Given the description of an element on the screen output the (x, y) to click on. 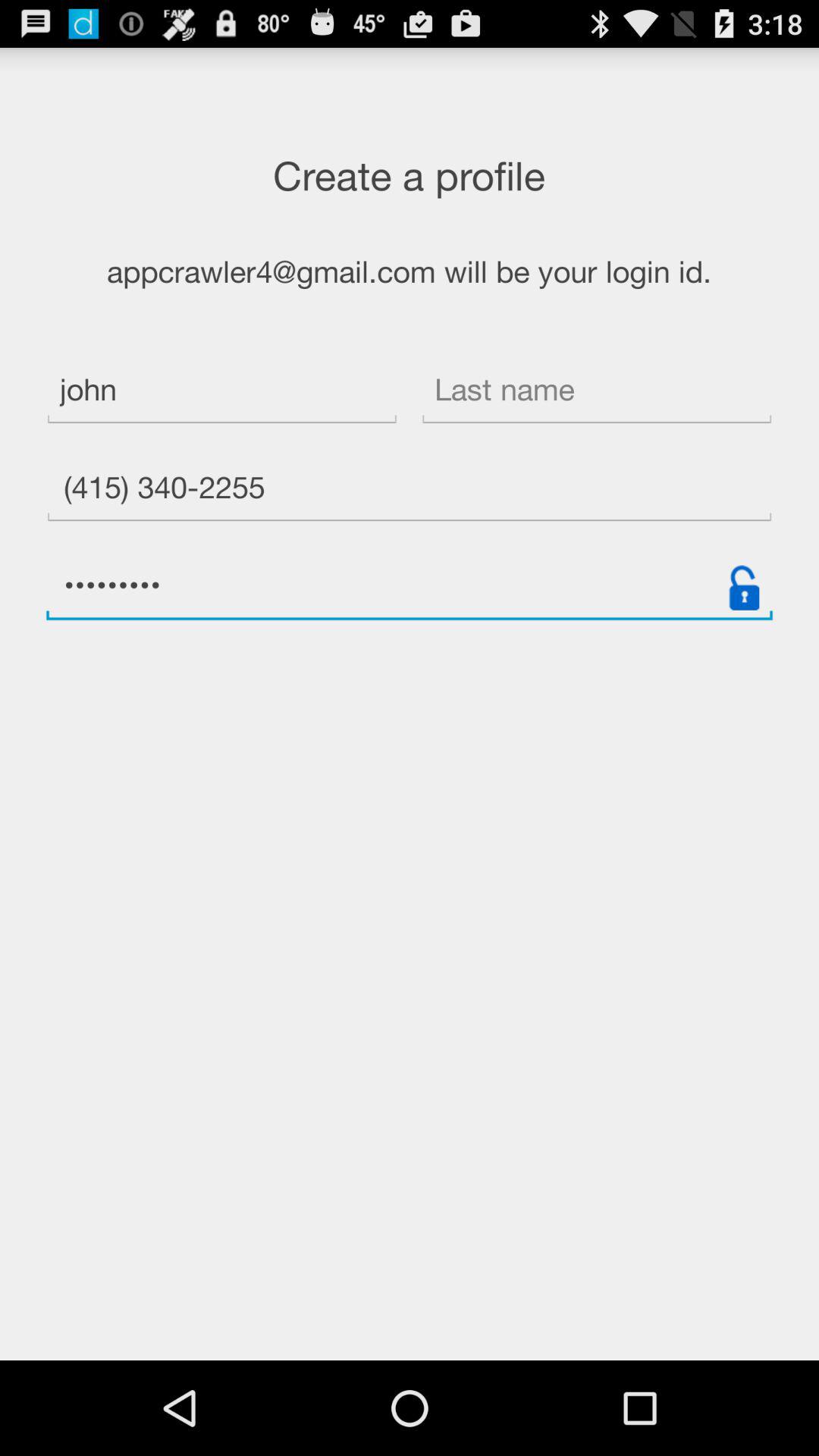
tap the icon below appcrawler4 gmail com icon (596, 392)
